Given the description of an element on the screen output the (x, y) to click on. 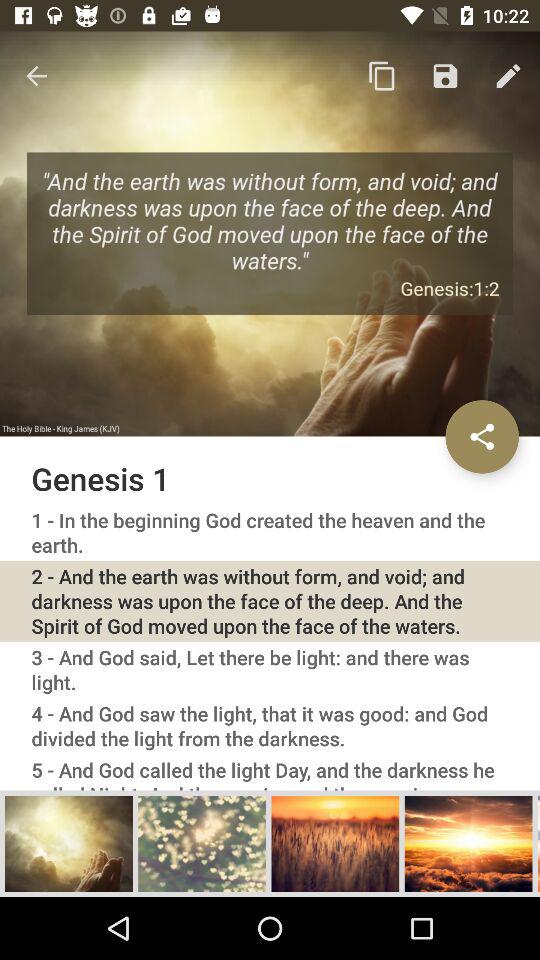
view image (69, 843)
